Given the description of an element on the screen output the (x, y) to click on. 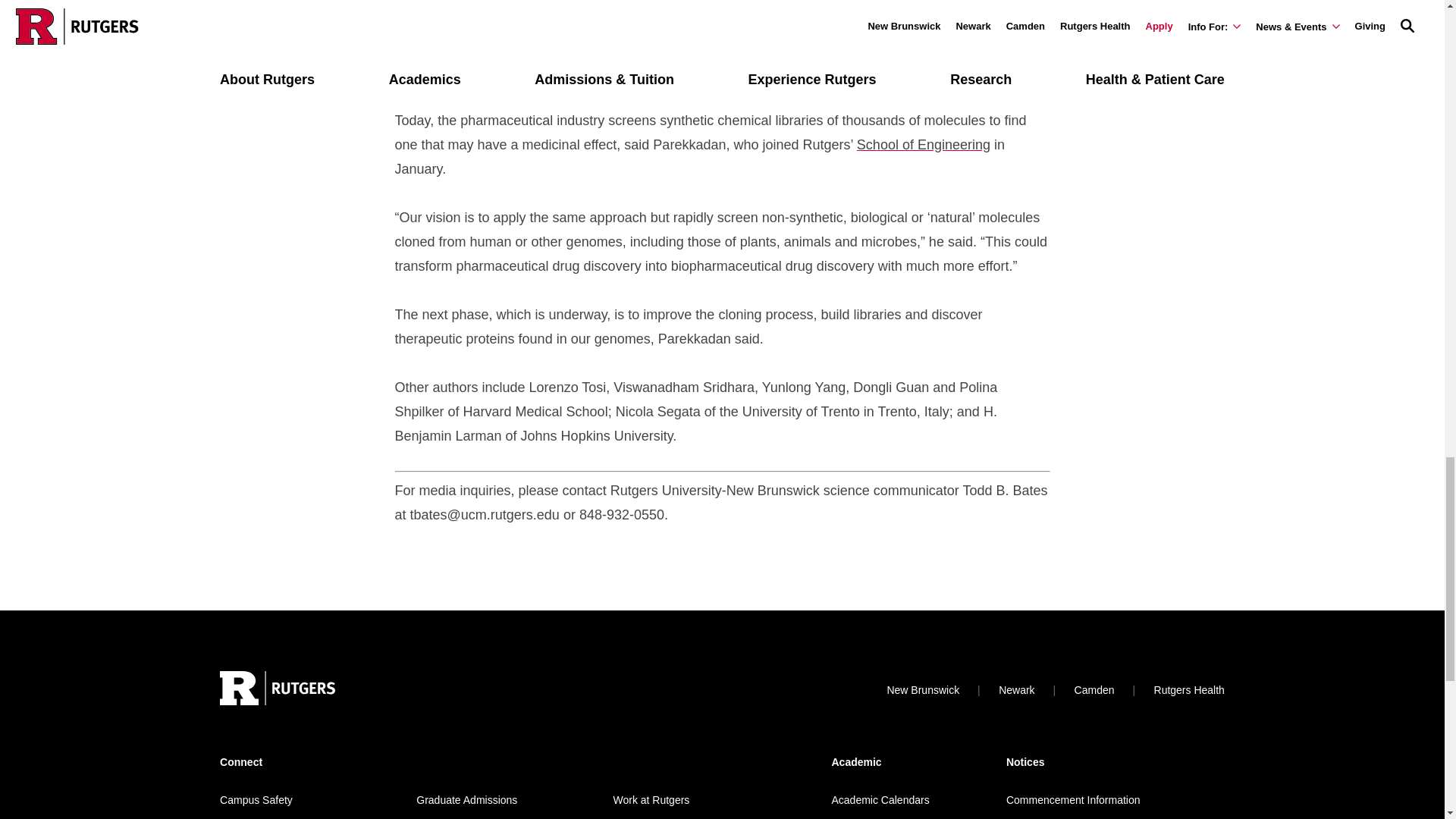
Graduate Admissions (466, 799)
Campus Safety (255, 799)
Academic Calendars (879, 799)
Work at Rutgers (650, 799)
